Given the description of an element on the screen output the (x, y) to click on. 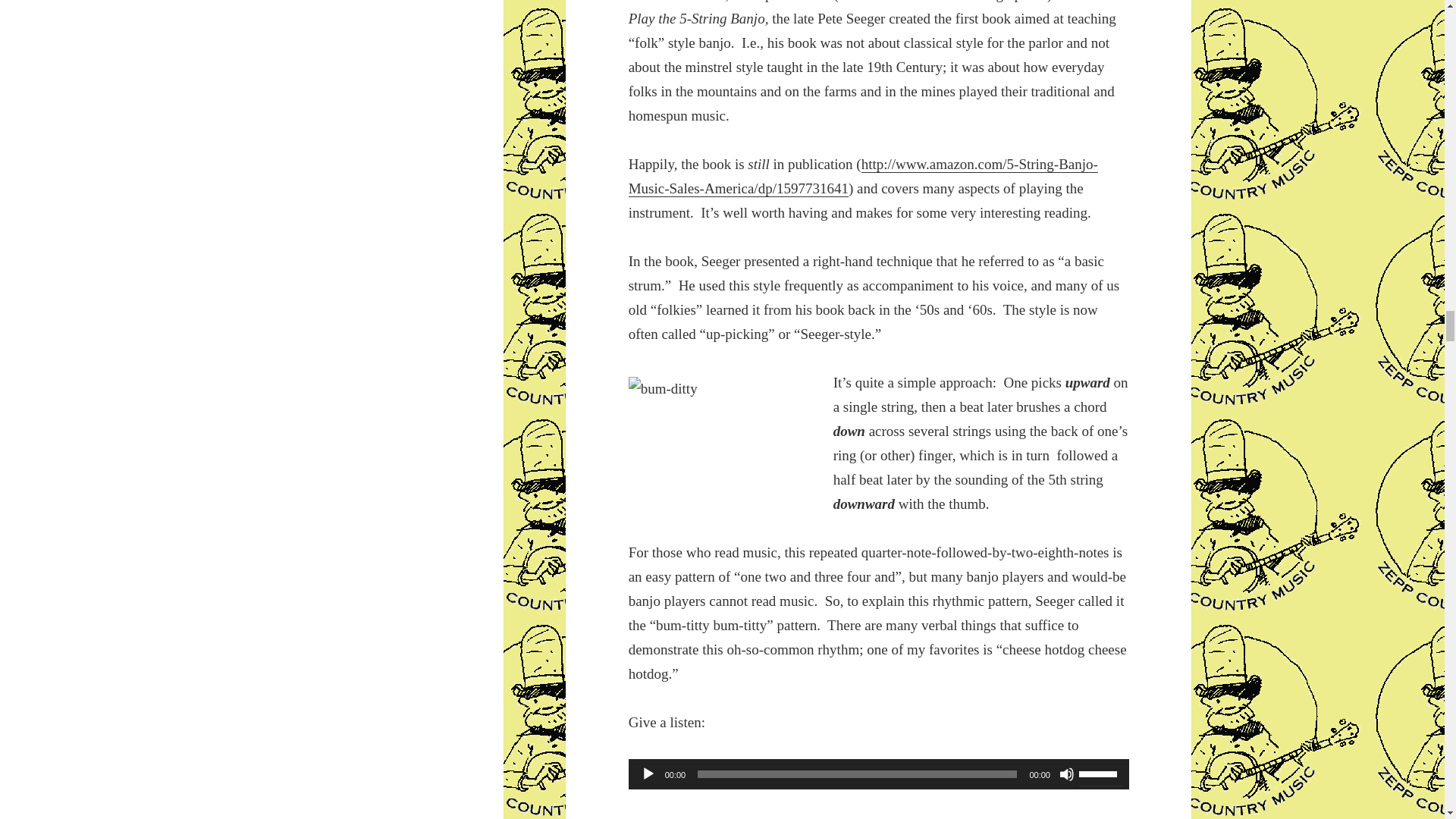
Play (648, 774)
Mute (1066, 774)
